Given the description of an element on the screen output the (x, y) to click on. 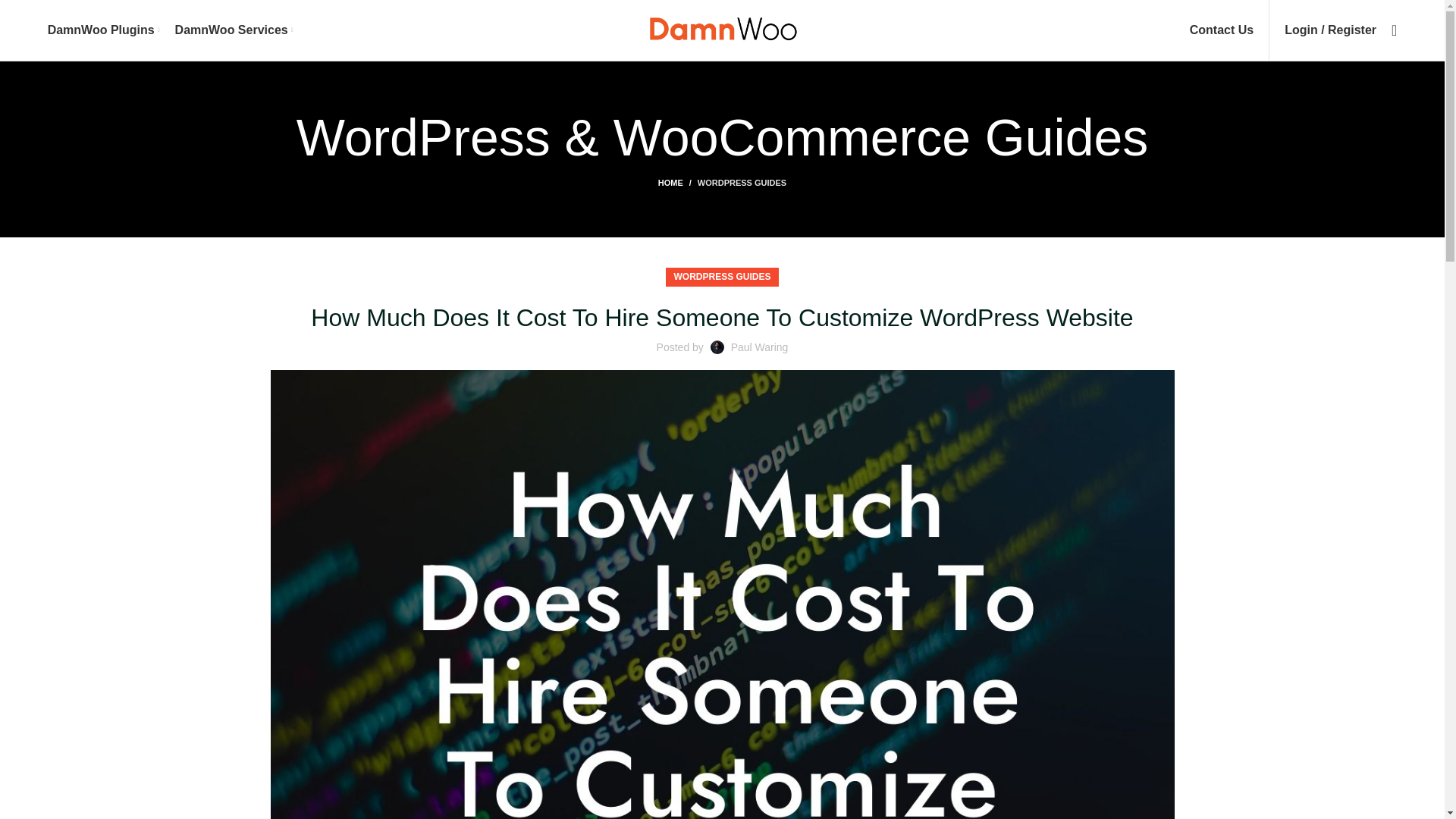
WORDPRESS GUIDES (741, 182)
WORDPRESS GUIDES (721, 276)
Contact Us (1221, 30)
Paul Waring (759, 346)
My account (1330, 30)
DamnWoo Plugins (104, 30)
DamnWoo Services (234, 30)
HOME (677, 182)
